Given the description of an element on the screen output the (x, y) to click on. 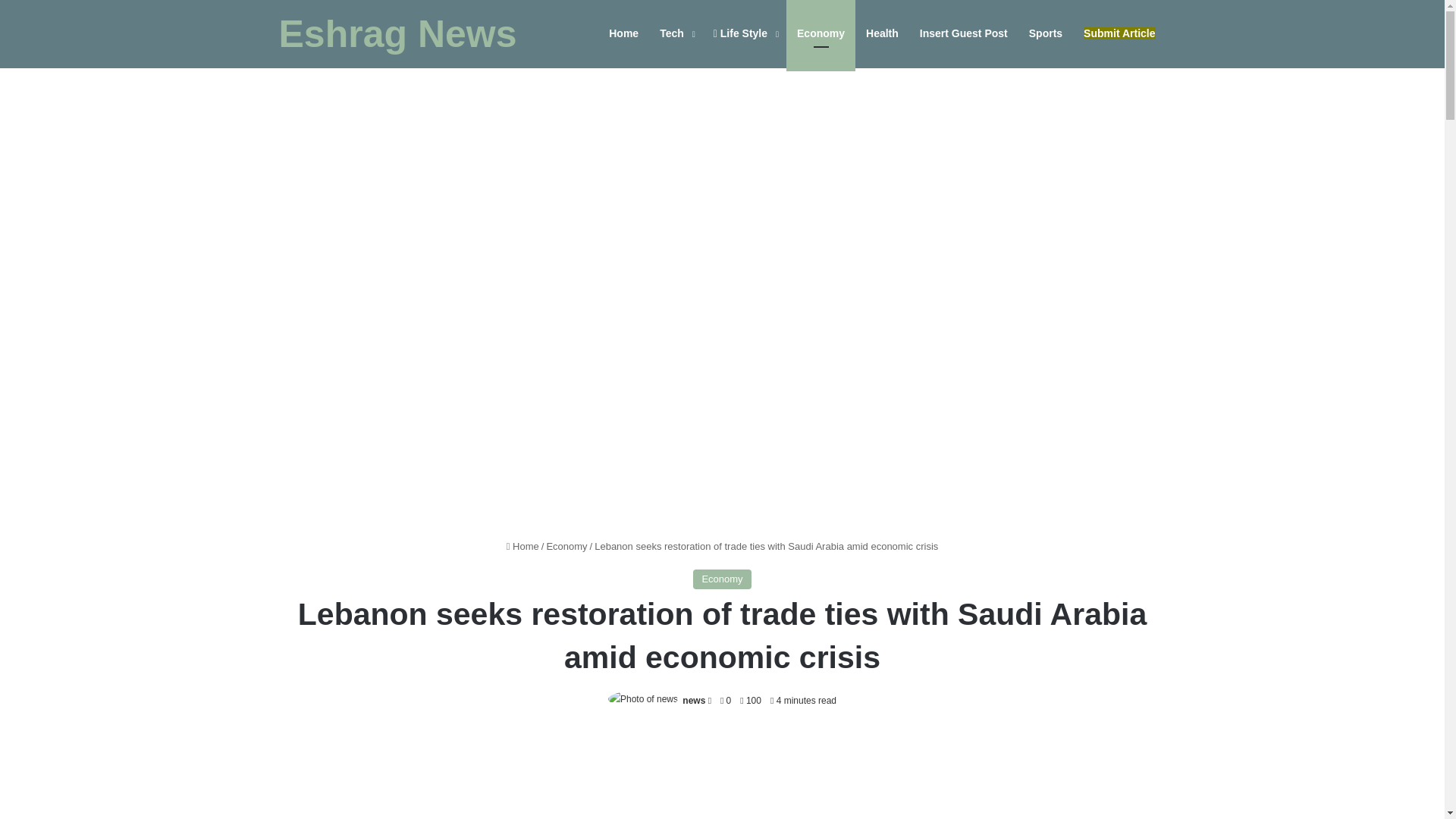
Insert Guest Post (962, 33)
Economy (722, 578)
Economy (821, 33)
Economy (566, 546)
news (693, 700)
news (693, 700)
Eshrag News (397, 34)
Eshrag News (397, 34)
Life Style (744, 33)
Submit Article (1119, 33)
Advertisement (722, 775)
Home (522, 546)
